Given the description of an element on the screen output the (x, y) to click on. 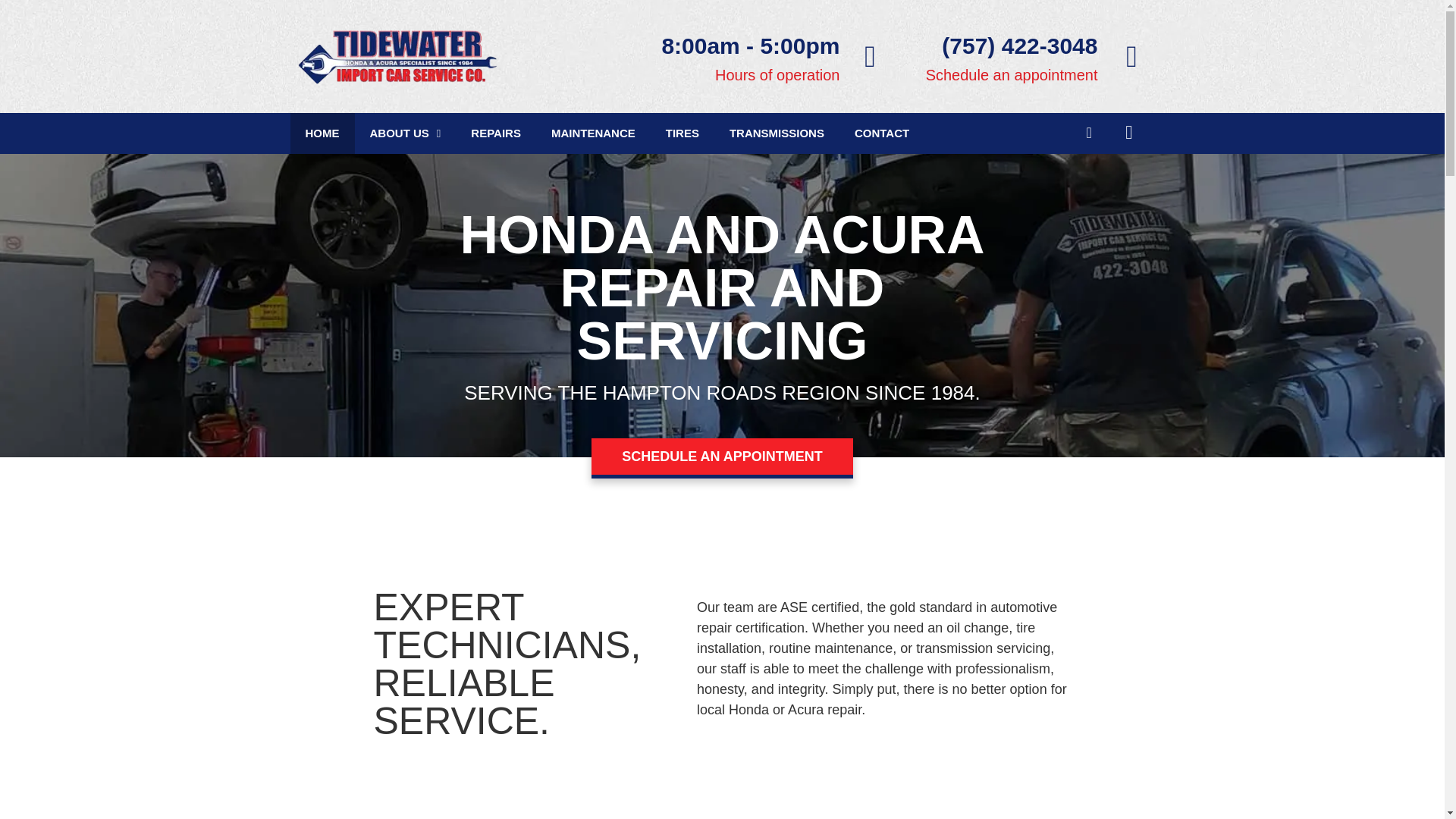
TRANSMISSIONS (777, 133)
ABOUT US (406, 133)
TIRES (682, 133)
CONTACT (882, 133)
MAINTENANCE (592, 133)
REPAIRS (495, 133)
SCHEDULE AN APPOINTMENT (722, 458)
HOME (321, 133)
